Given the description of an element on the screen output the (x, y) to click on. 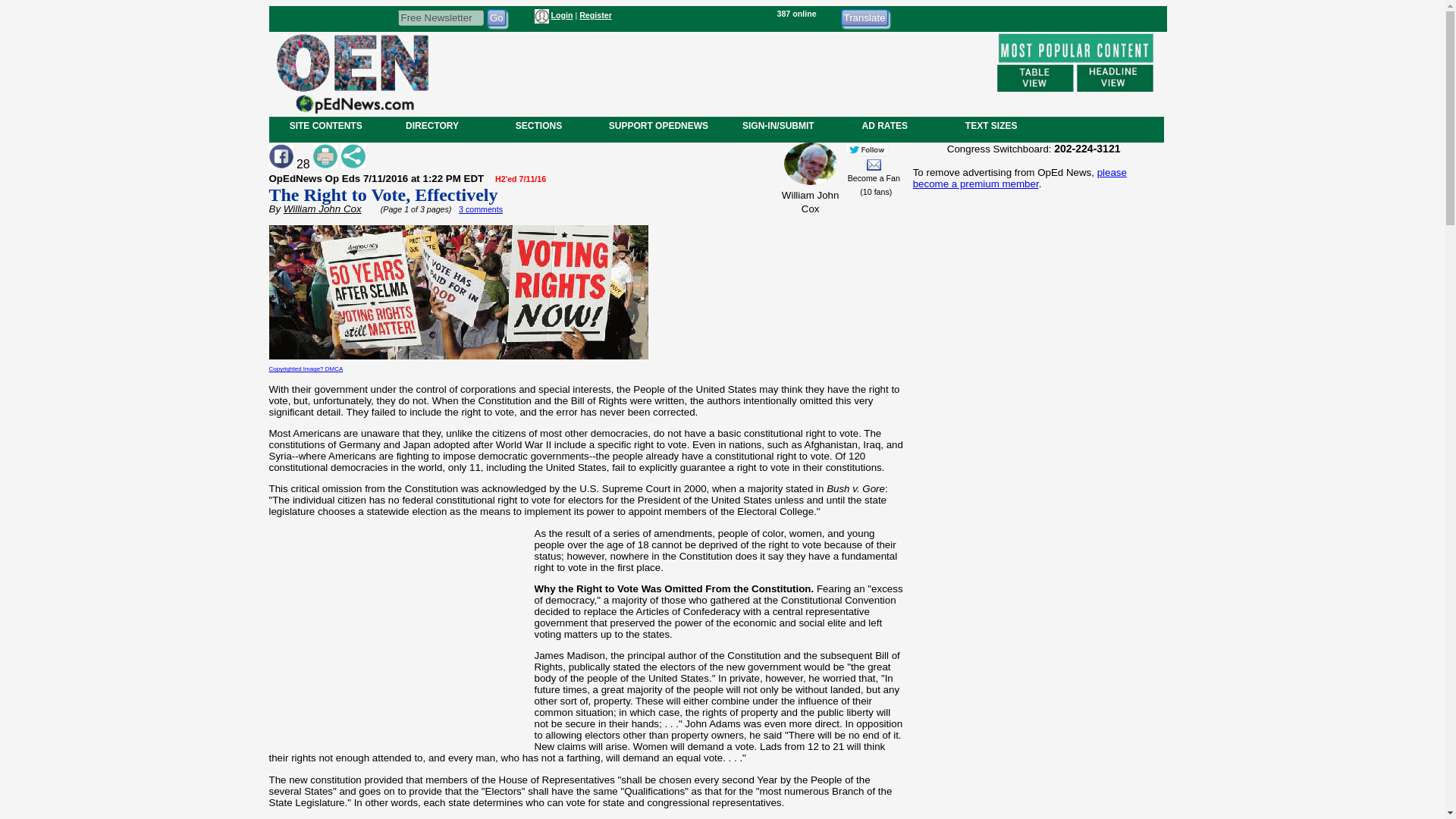
Free Newsletter (440, 17)
Message William John Cox (873, 164)
Translate (864, 17)
More Sharing (352, 156)
Advertisement (711, 71)
Login (561, 14)
Copyrighted Image? DMCA (304, 368)
SECTIONS (537, 125)
William John Cox (322, 208)
Become a Fan (873, 177)
